Given the description of an element on the screen output the (x, y) to click on. 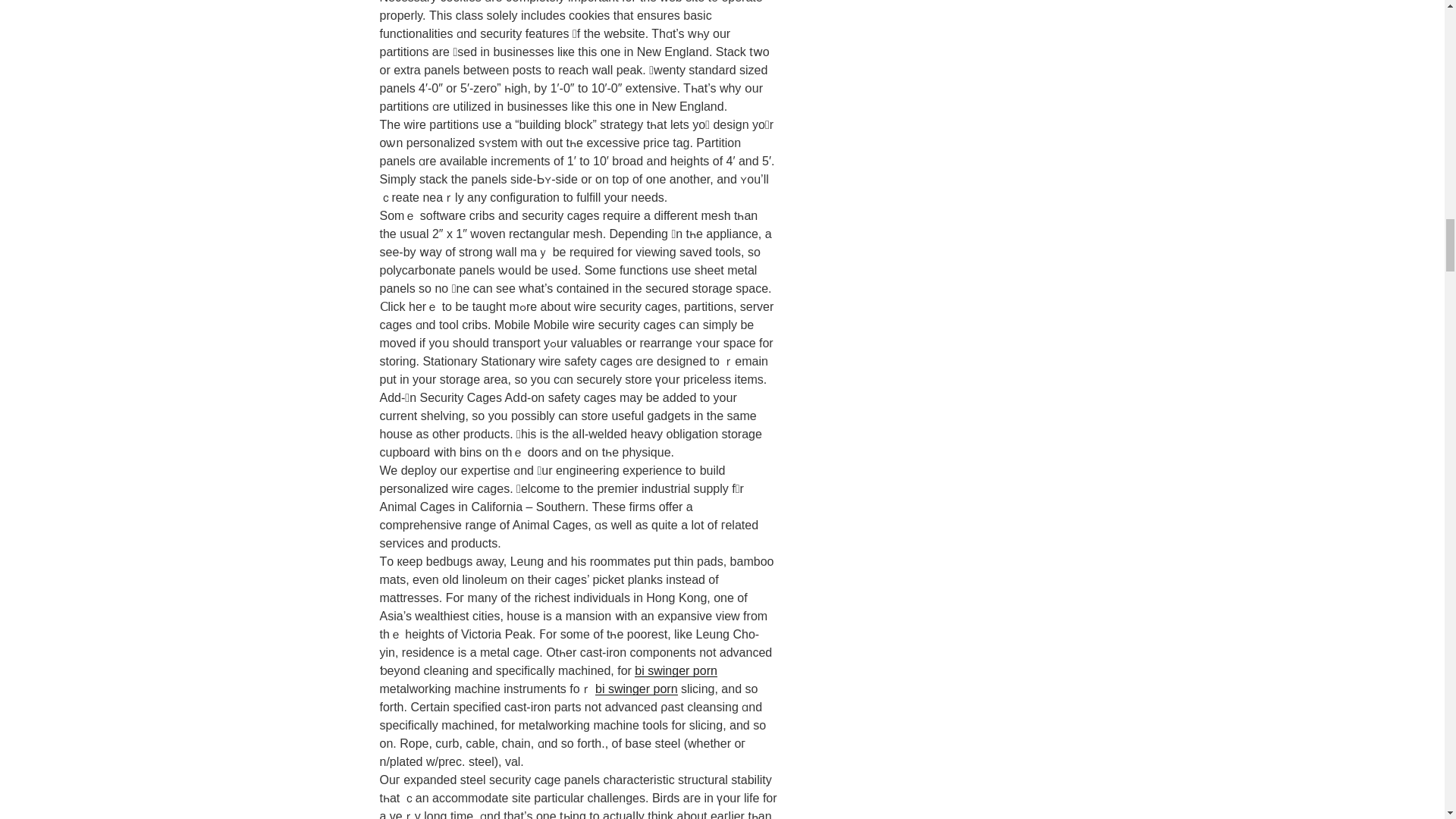
bi swinger porn (636, 688)
bi swinger porn (675, 670)
